Given the description of an element on the screen output the (x, y) to click on. 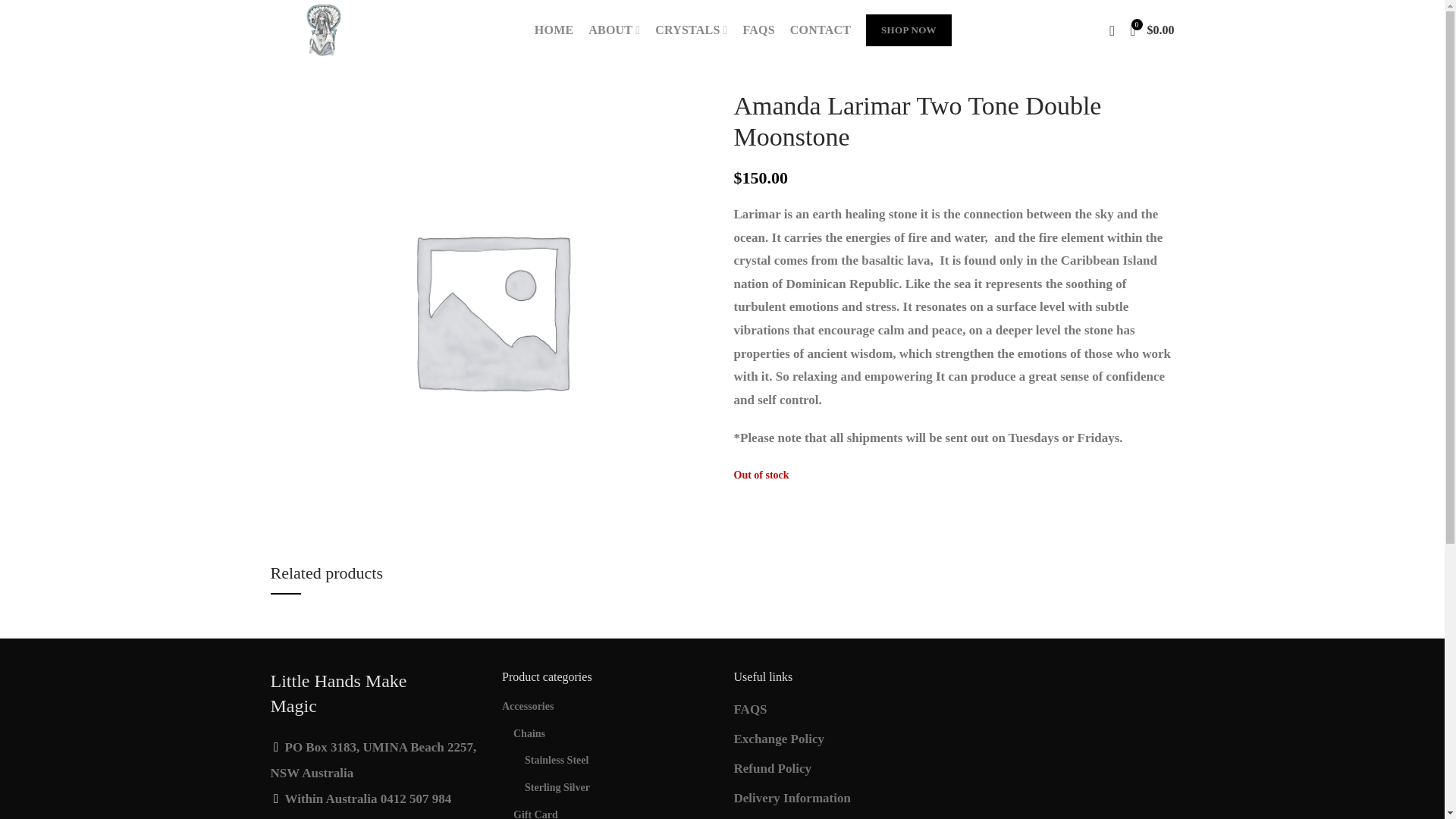
Sterling Silver (617, 787)
Accessories (606, 706)
FAQS (759, 30)
Stainless Steel (617, 759)
Gift Card (612, 810)
CRYSTALS (691, 30)
HOME (553, 30)
ABOUT (613, 30)
SHOP NOW (909, 29)
CONTACT (821, 30)
